Given the description of an element on the screen output the (x, y) to click on. 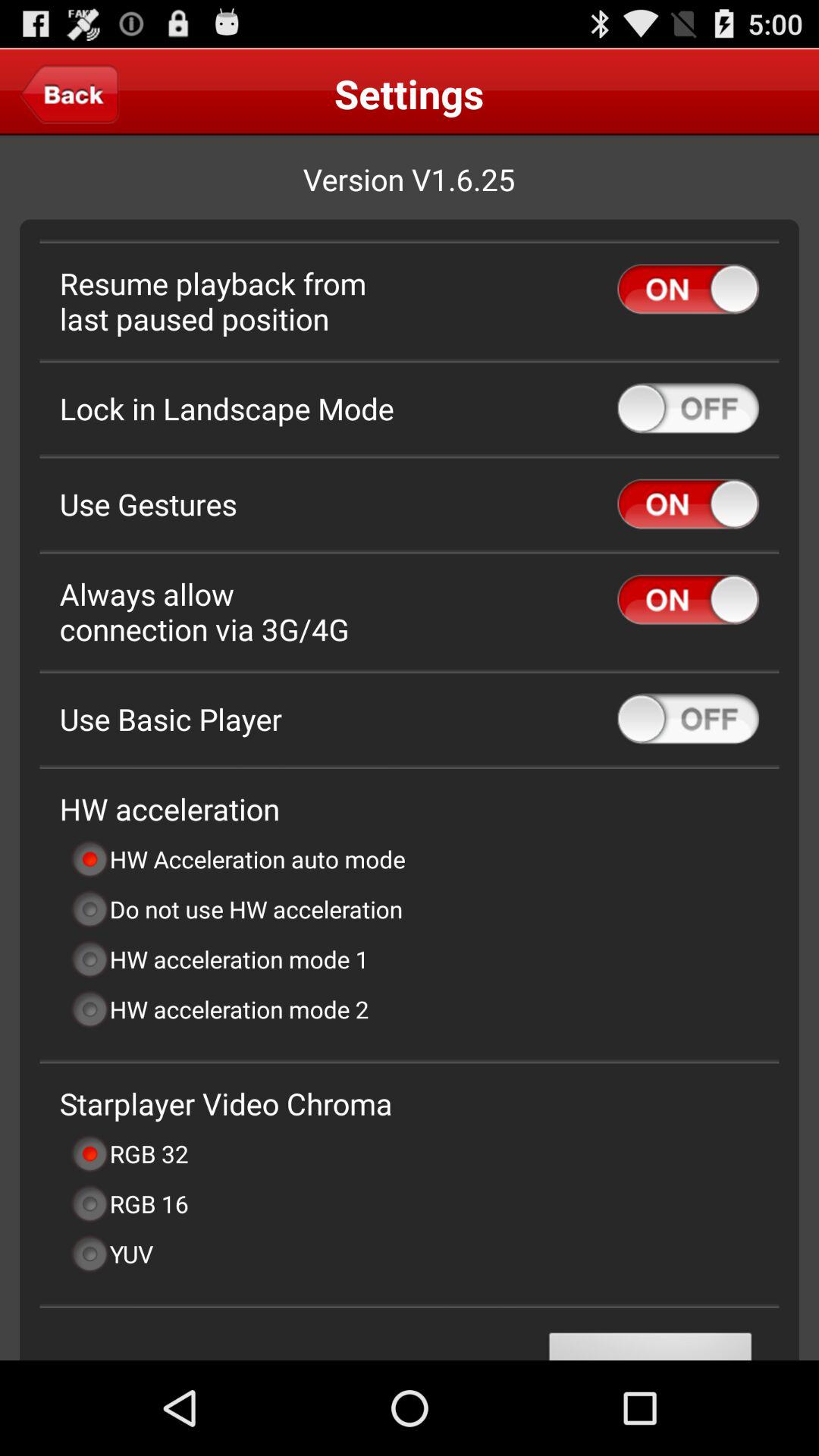
turn basic player on/off (688, 719)
